Given the description of an element on the screen output the (x, y) to click on. 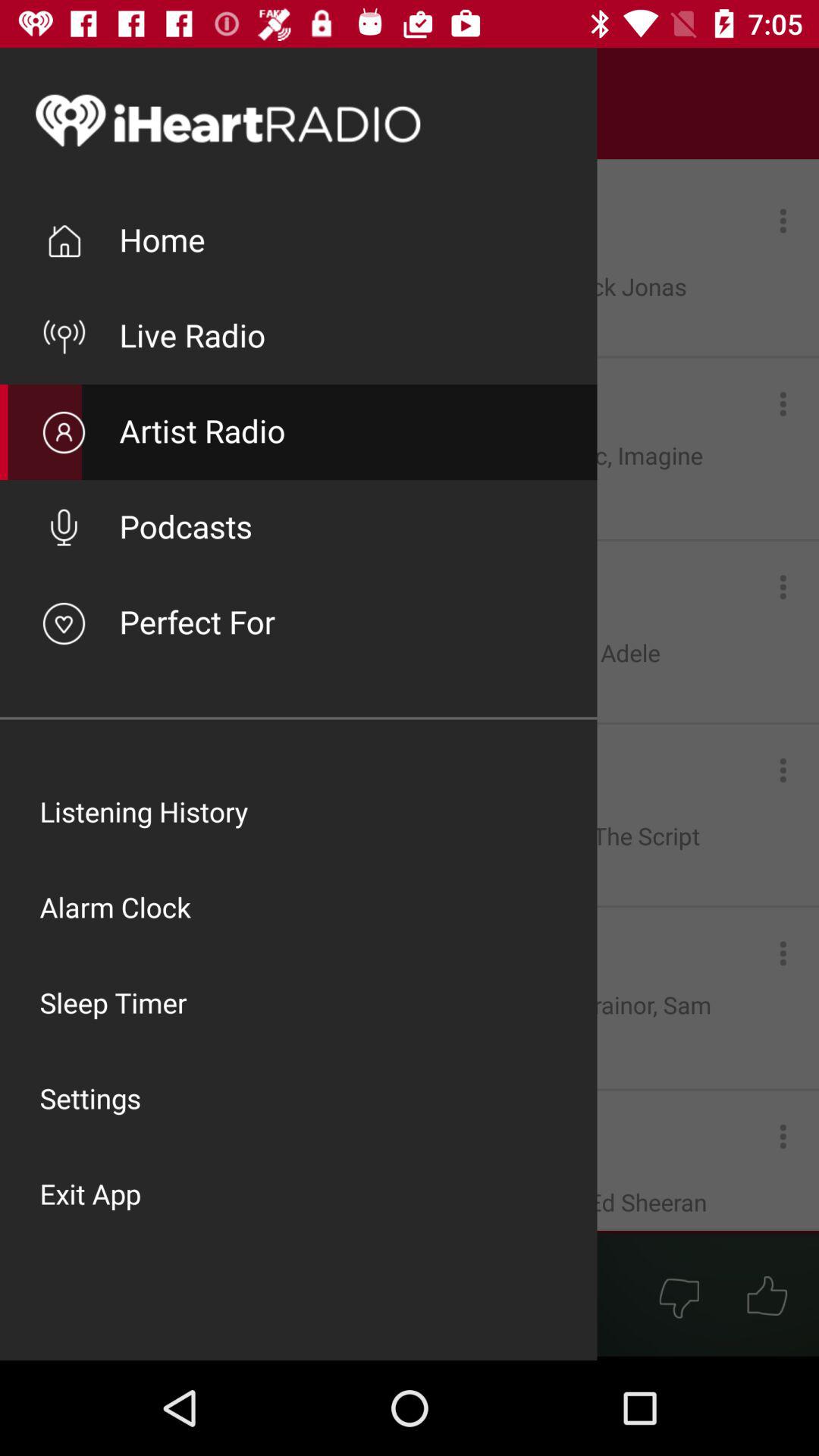
click on the icon of artist radio (63, 432)
